Given the description of an element on the screen output the (x, y) to click on. 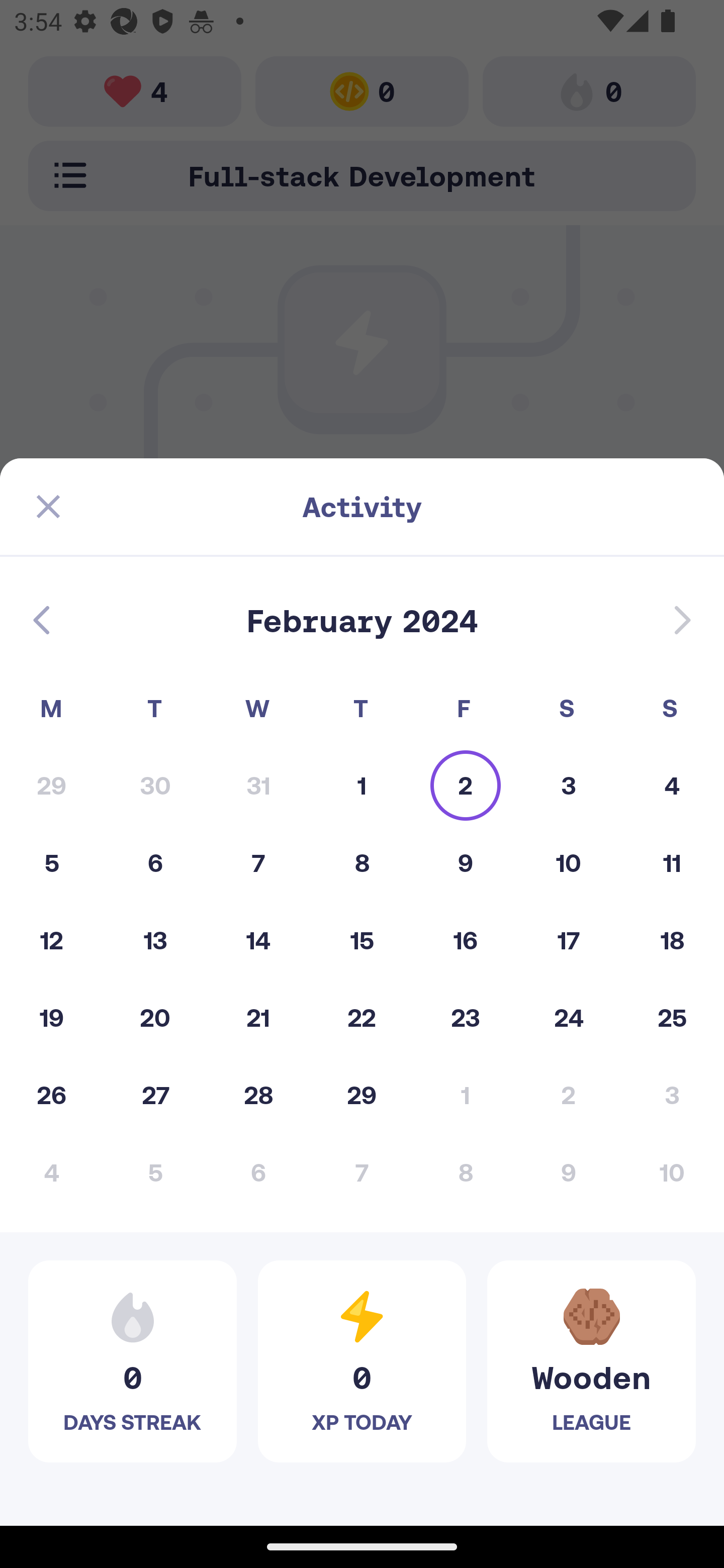
Close (47, 506)
